Given the description of an element on the screen output the (x, y) to click on. 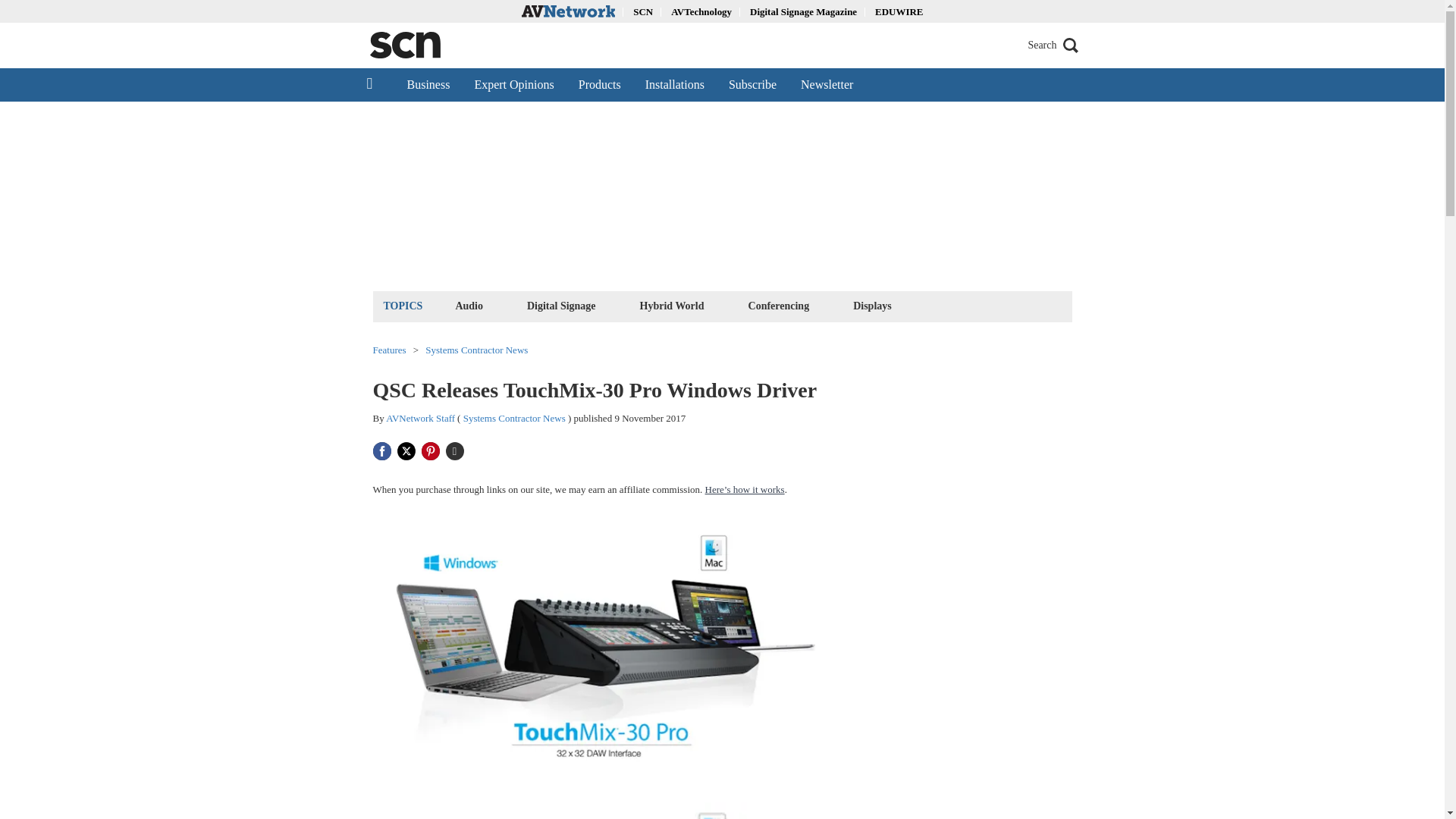
Business (427, 84)
Features (389, 349)
Products (599, 84)
Audio (468, 305)
SCN (642, 11)
Digital Signage (561, 305)
AVTechnology (701, 11)
Subscribe (752, 84)
Expert Opinions (513, 84)
Hybrid World (672, 305)
Conferencing (778, 305)
EDUWIRE (899, 11)
Newsletter (826, 84)
Installations (674, 84)
Displays (871, 305)
